Given the description of an element on the screen output the (x, y) to click on. 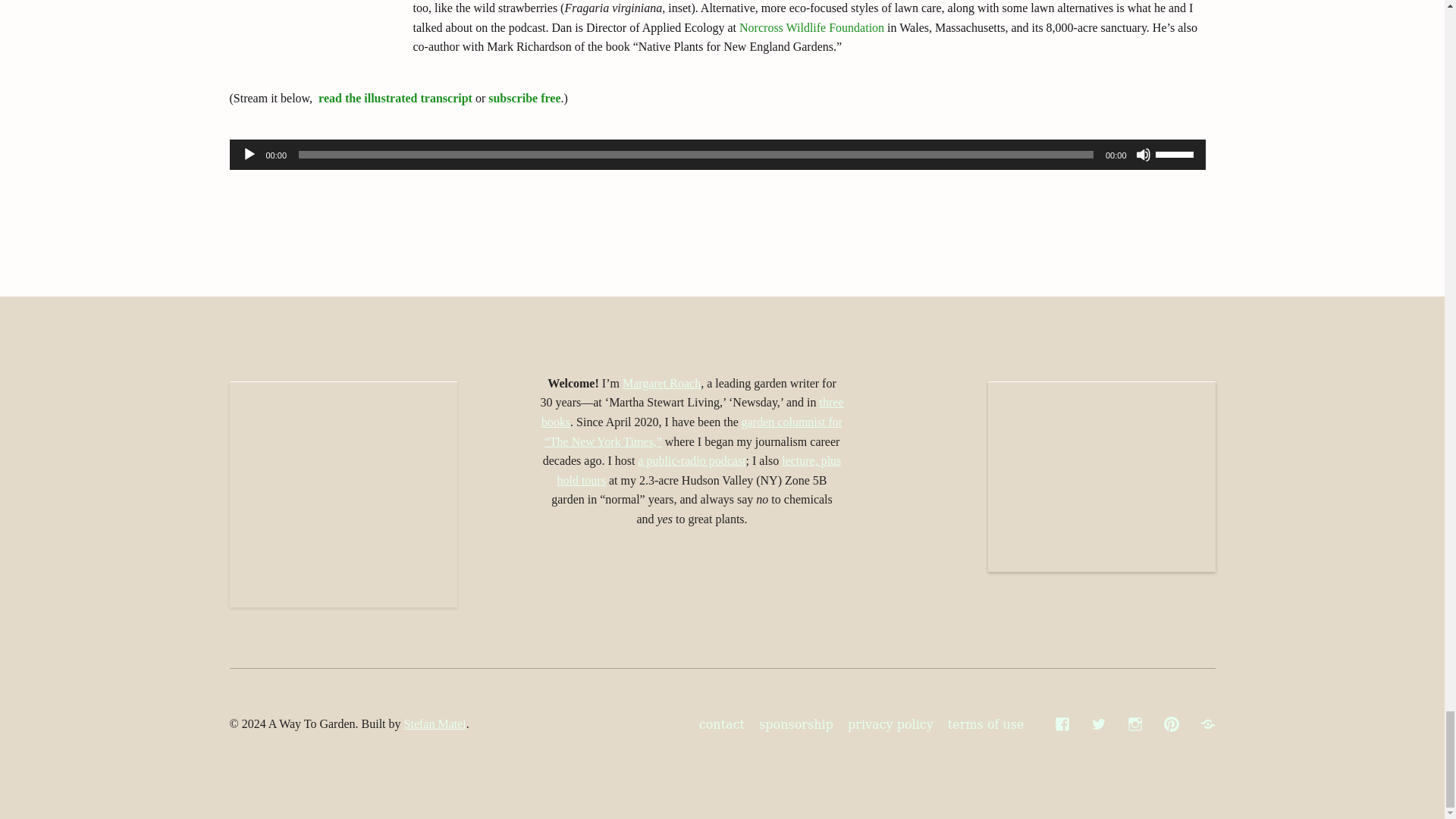
Play (248, 154)
Mute (1143, 154)
